Given the description of an element on the screen output the (x, y) to click on. 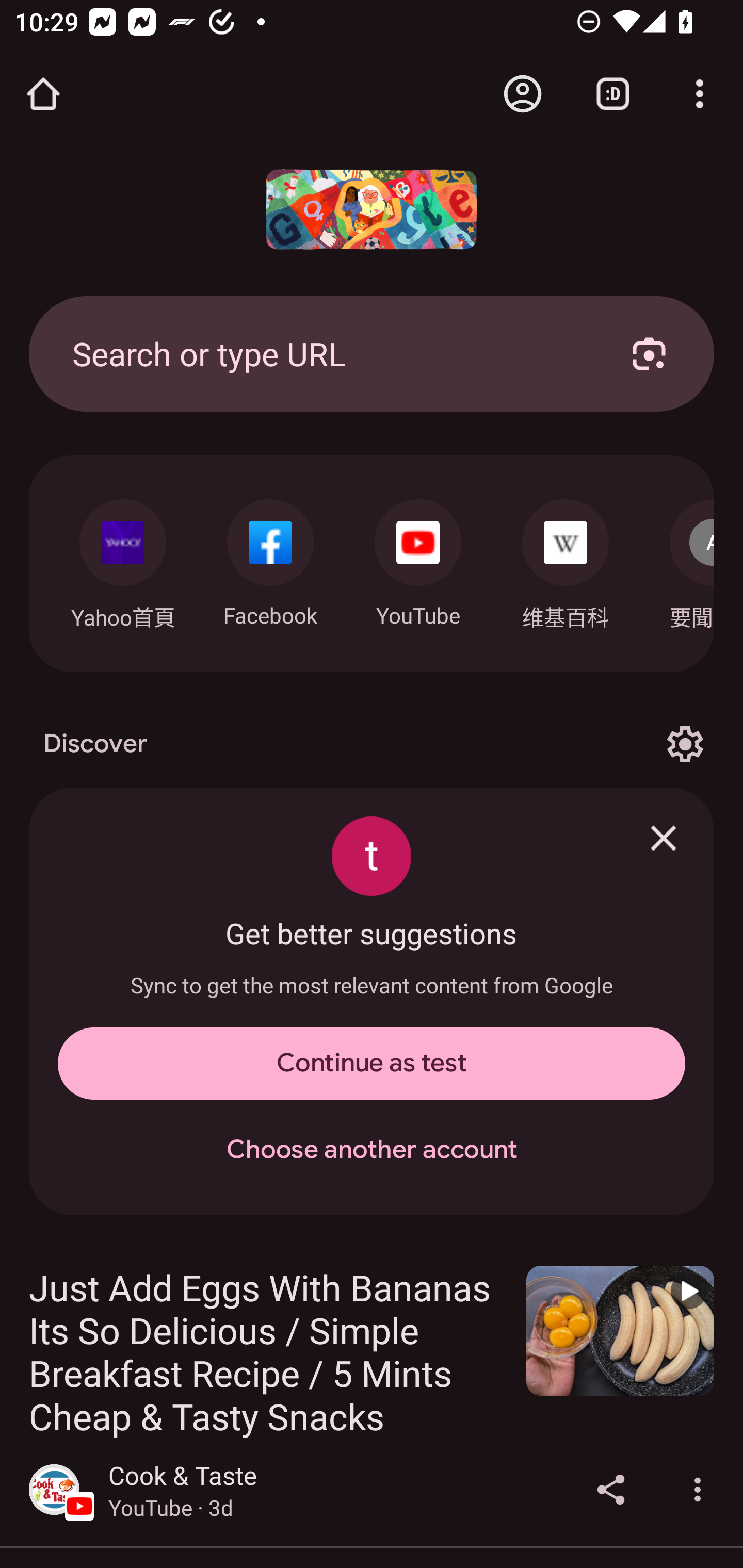
Open the home page (43, 93)
Switch or close tabs (612, 93)
Customize and control Google Chrome (699, 93)
Google doodle: 2024 年國際婦女節 (371, 209)
Search or type URL (327, 353)
Search with your camera using Google Lens (648, 353)
Navigate: Yahoo首頁: hk.mobi.yahoo.com Yahoo首頁 (122, 558)
Navigate: Facebook: m.facebook.com Facebook (270, 558)
Navigate: YouTube: m.youtube.com YouTube (417, 558)
Navigate: 维基百科: zh.m.wikipedia.org 维基百科 (565, 558)
Options for Discover (684, 743)
Close (663, 837)
Continue as test (371, 1063)
Choose another account (371, 1150)
